Given the description of an element on the screen output the (x, y) to click on. 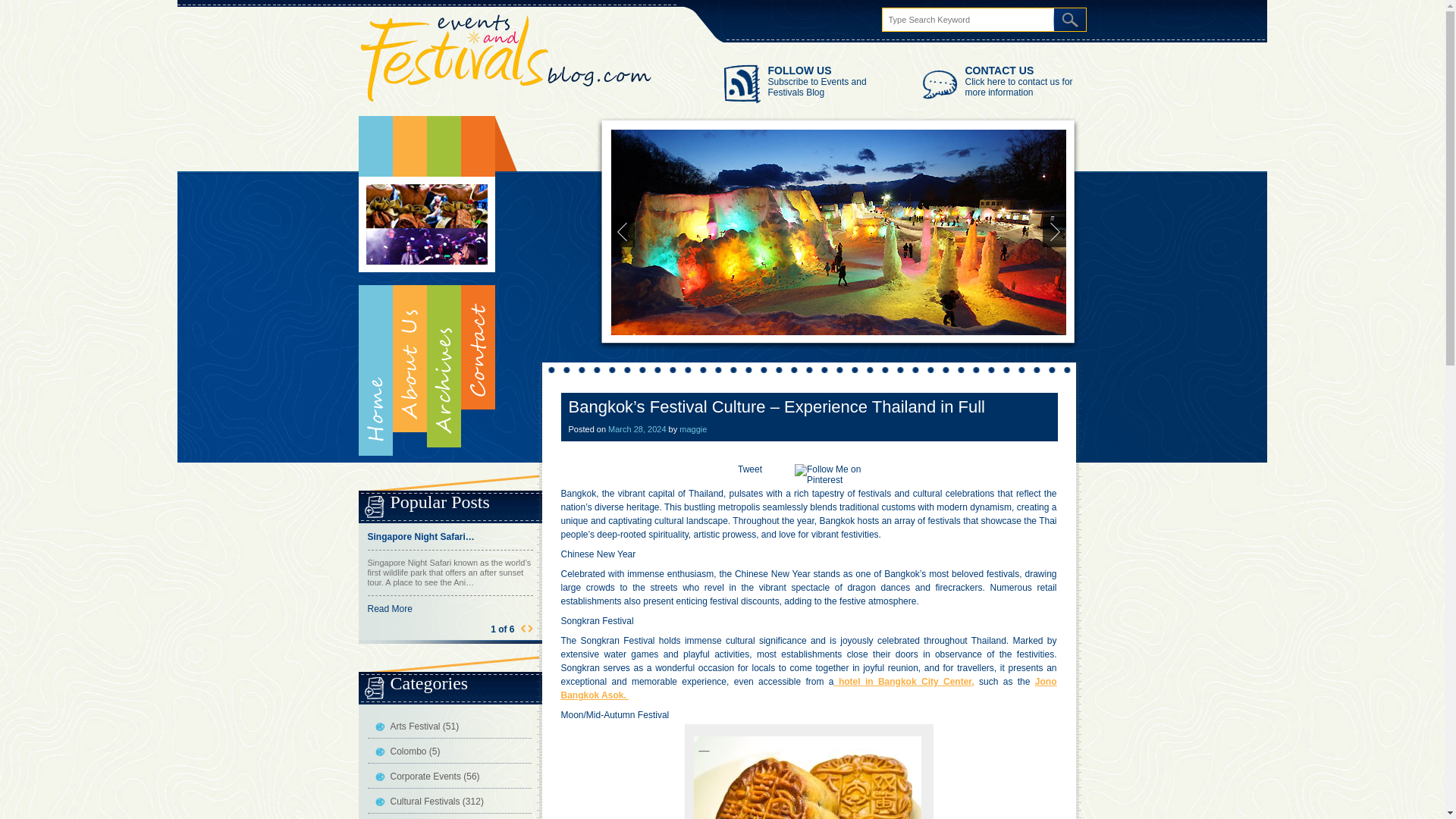
Search (20, 7)
Home (374, 285)
2:00 pm (636, 429)
Pin It (834, 474)
Sitemap (443, 281)
View all posts by maggie (692, 429)
Click here to contact us for more information (1017, 86)
Read More (389, 608)
Contact Us (478, 262)
About Us (409, 274)
Subscribe to Events and Festivals Blog (816, 86)
